Given the description of an element on the screen output the (x, y) to click on. 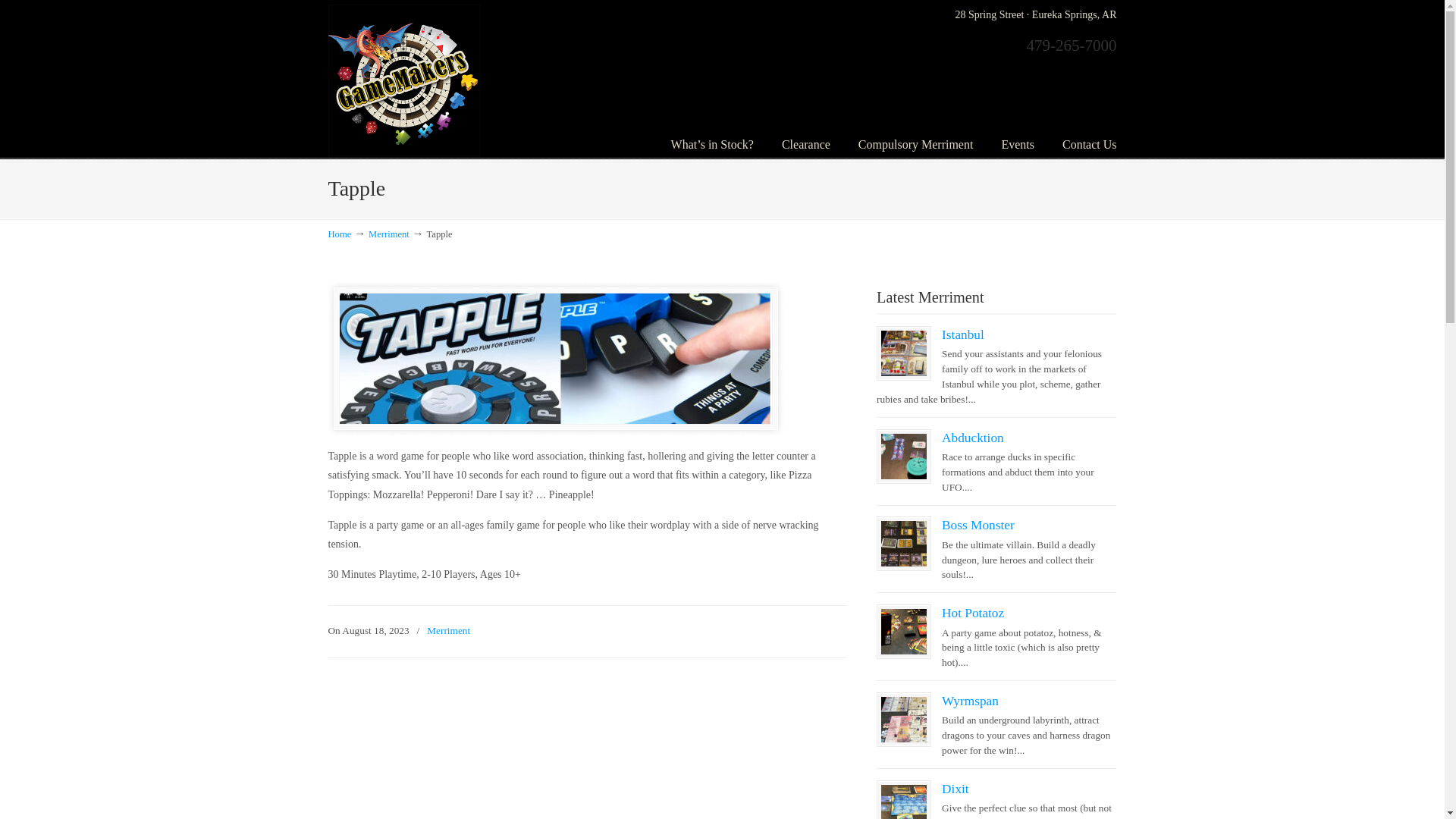
Abducktion (903, 456)
Hot Potatoz (973, 612)
GameMakers (403, 80)
Boss Monster (978, 524)
Wyrmspan (970, 700)
Hot Potatoz (903, 631)
Contact Us (1089, 144)
Clearance (806, 144)
Home (338, 234)
Dixit (955, 789)
